Given the description of an element on the screen output the (x, y) to click on. 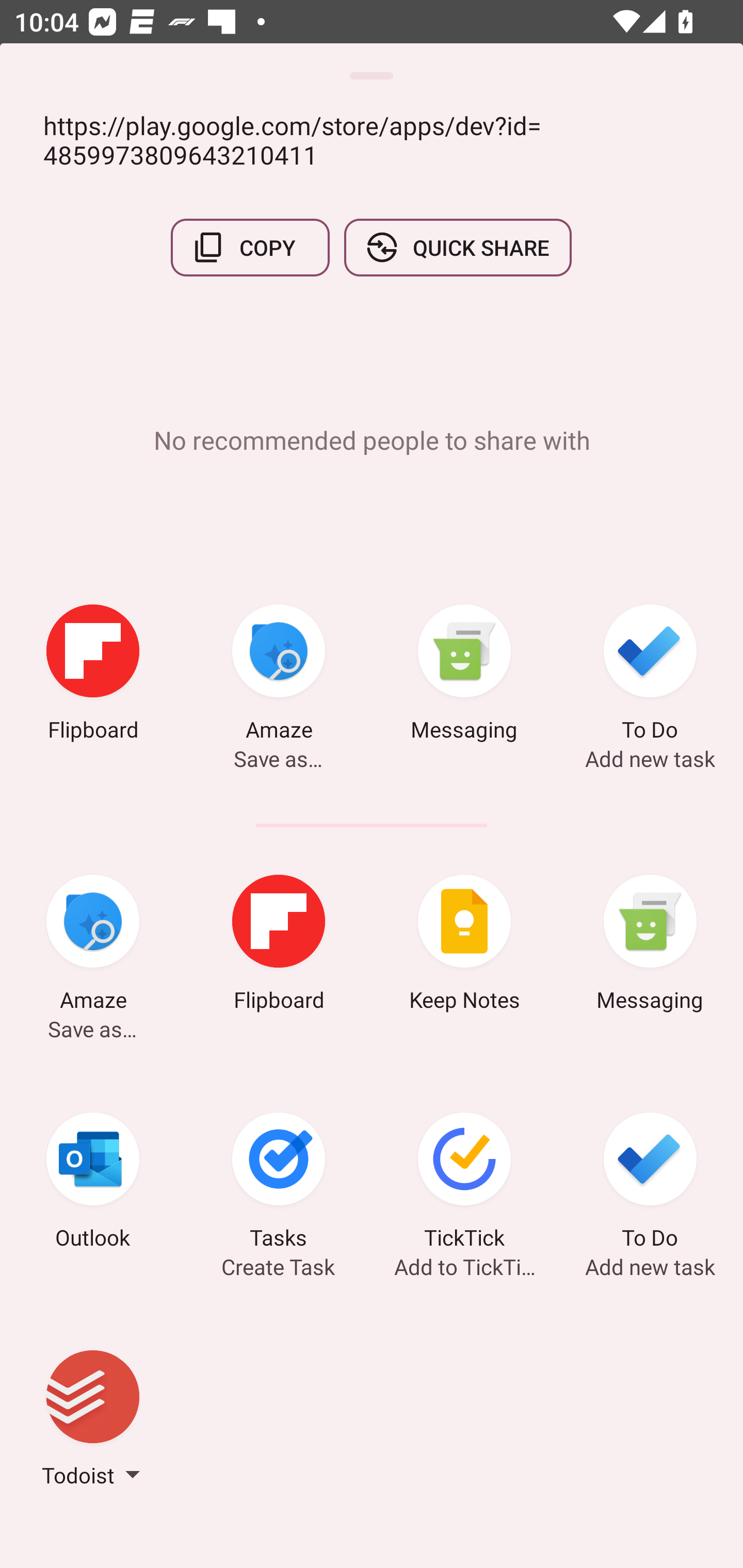
COPY (249, 247)
QUICK SHARE (457, 247)
Flipboard (92, 675)
Amaze Save as… (278, 675)
Messaging (464, 675)
To Do Add new task (650, 675)
Amaze Save as… (92, 945)
Flipboard (278, 945)
Keep Notes (464, 945)
Messaging (650, 945)
Outlook (92, 1183)
Tasks Create Task (278, 1183)
TickTick Add to TickTick (464, 1183)
To Do Add new task (650, 1183)
Todoist (92, 1422)
